Given the description of an element on the screen output the (x, y) to click on. 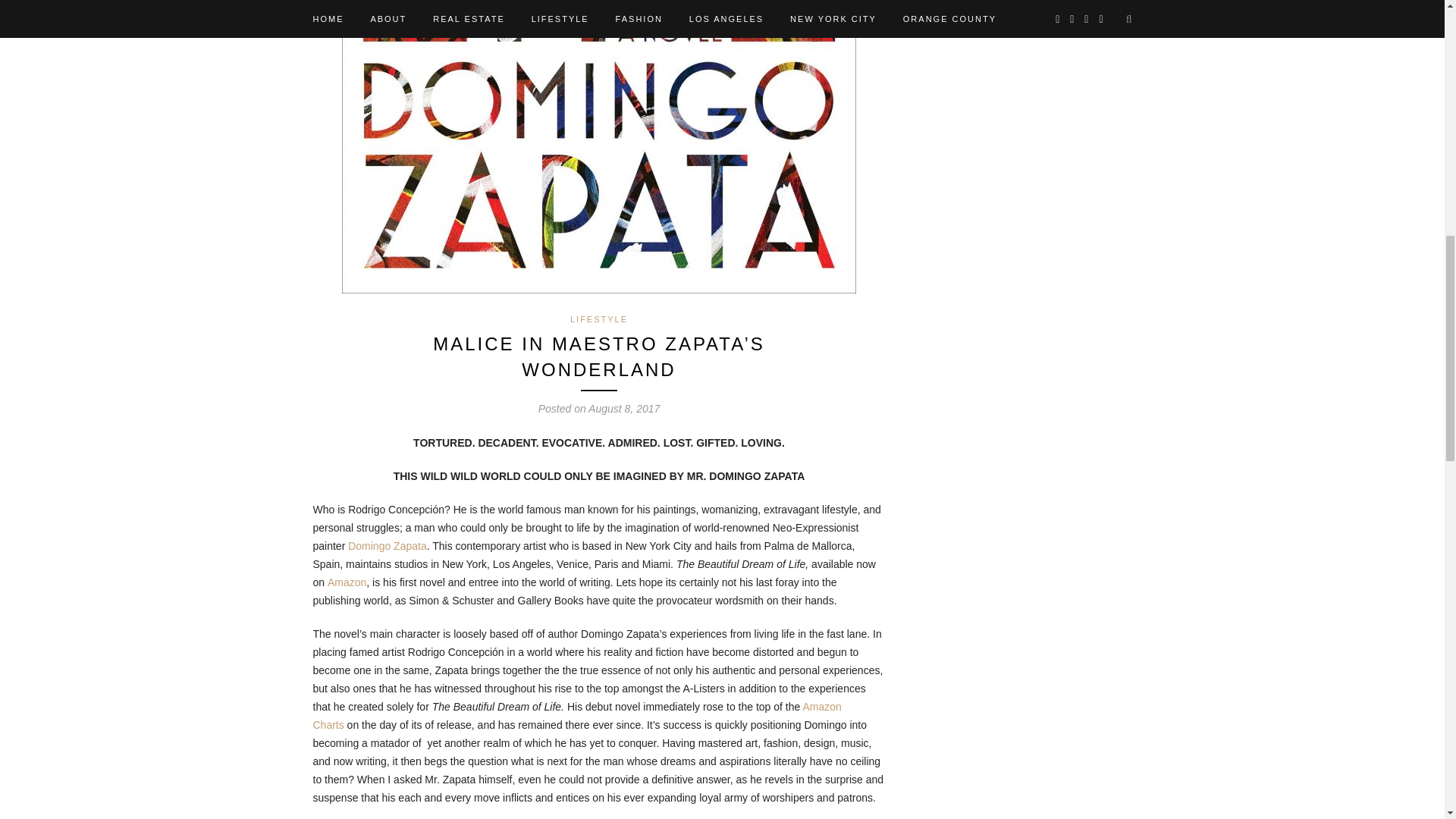
Domingo Zapata (386, 545)
Amazon Charts (577, 716)
LIFESTYLE (598, 318)
Amazon (346, 582)
